Given the description of an element on the screen output the (x, y) to click on. 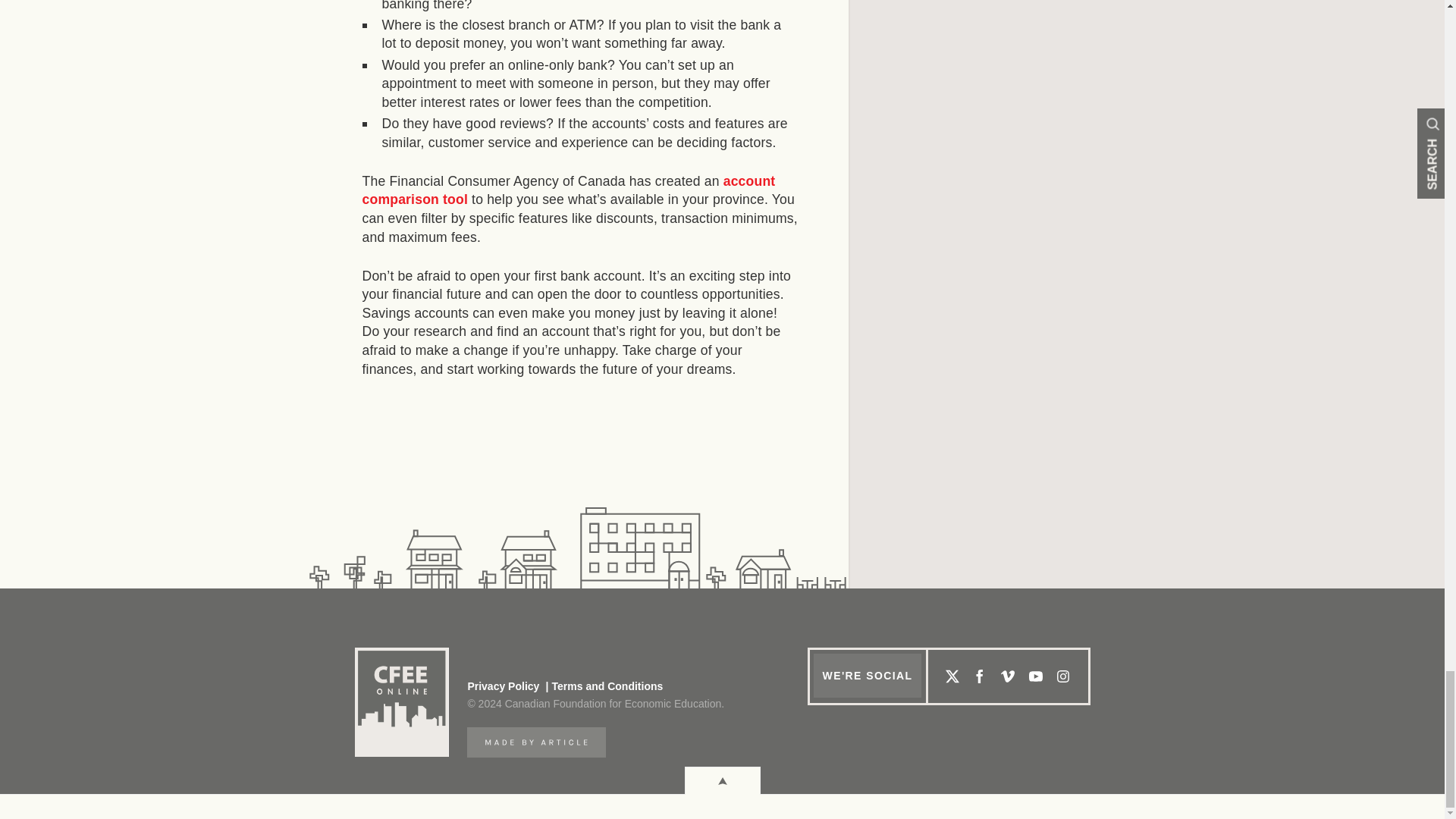
Privacy Policy (502, 686)
Terms and Conditions (601, 686)
account comparison tool (569, 190)
